Given the description of an element on the screen output the (x, y) to click on. 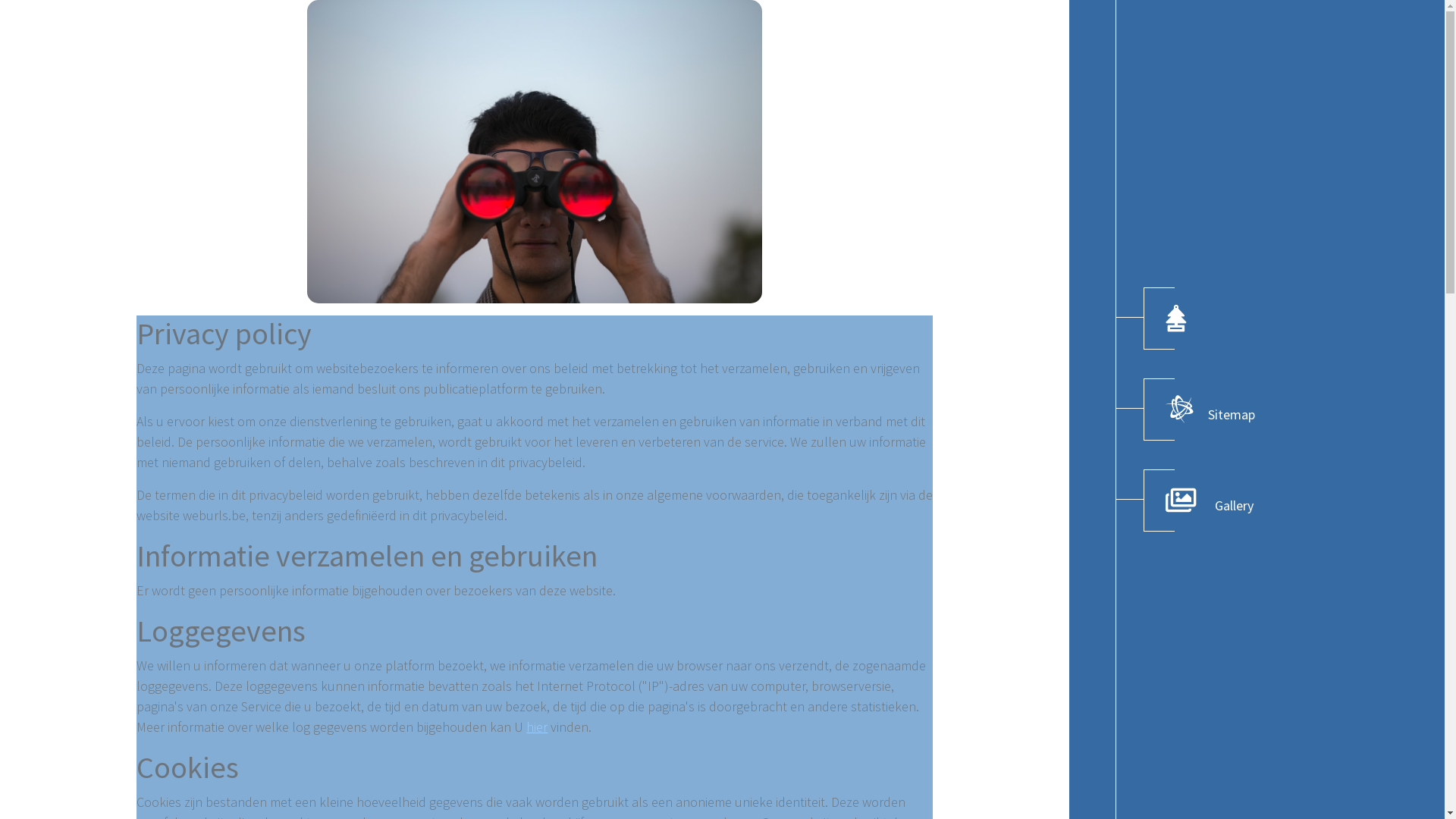
hier Element type: text (536, 726)
Sitemap Element type: text (1210, 409)
Gallery Element type: text (1209, 500)
